Given the description of an element on the screen output the (x, y) to click on. 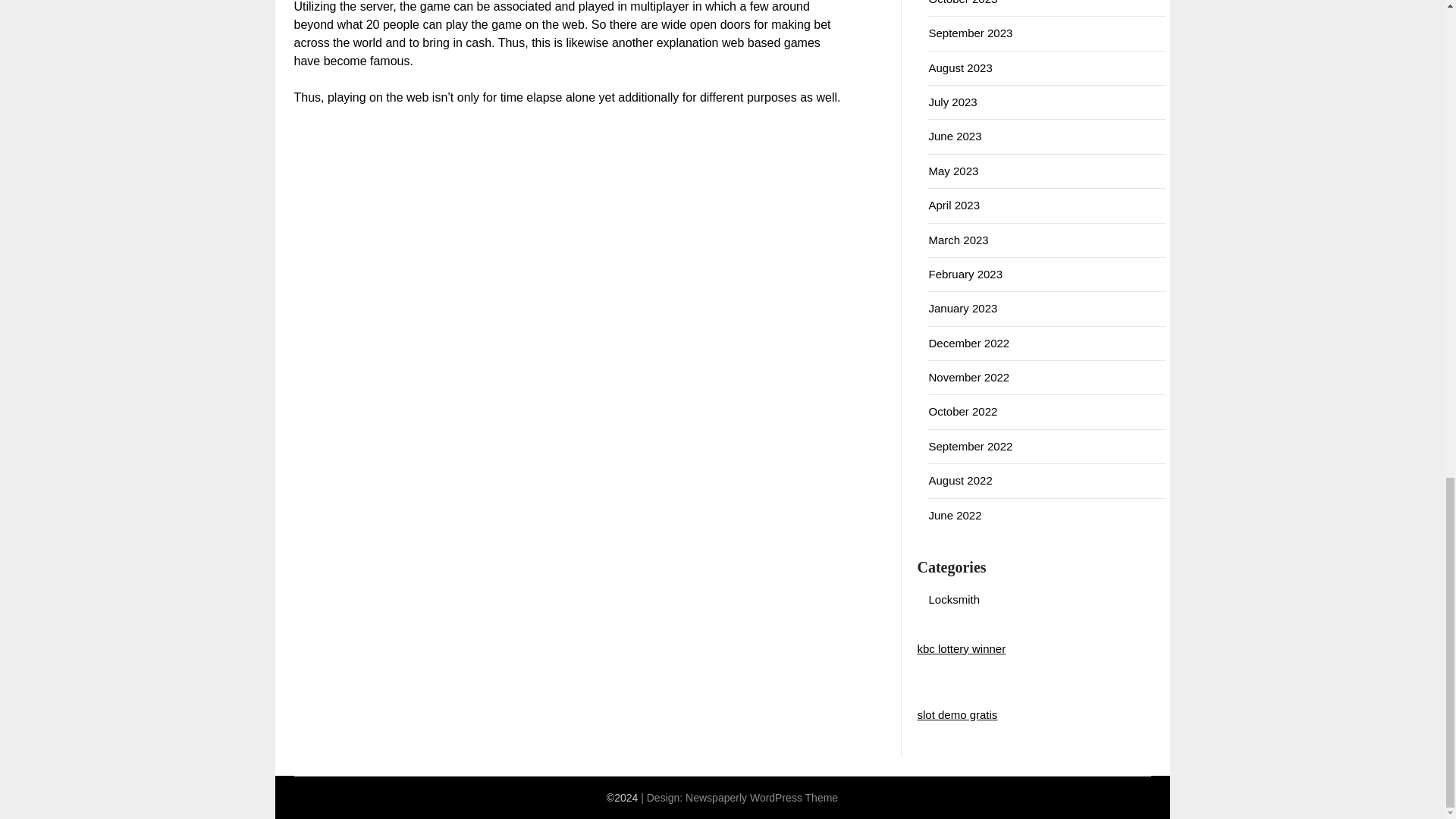
August 2023 (959, 67)
April 2023 (953, 205)
February 2023 (965, 273)
January 2023 (962, 308)
September 2022 (969, 445)
October 2023 (962, 2)
October 2022 (962, 410)
June 2023 (954, 135)
May 2023 (953, 170)
December 2022 (968, 342)
